Given the description of an element on the screen output the (x, y) to click on. 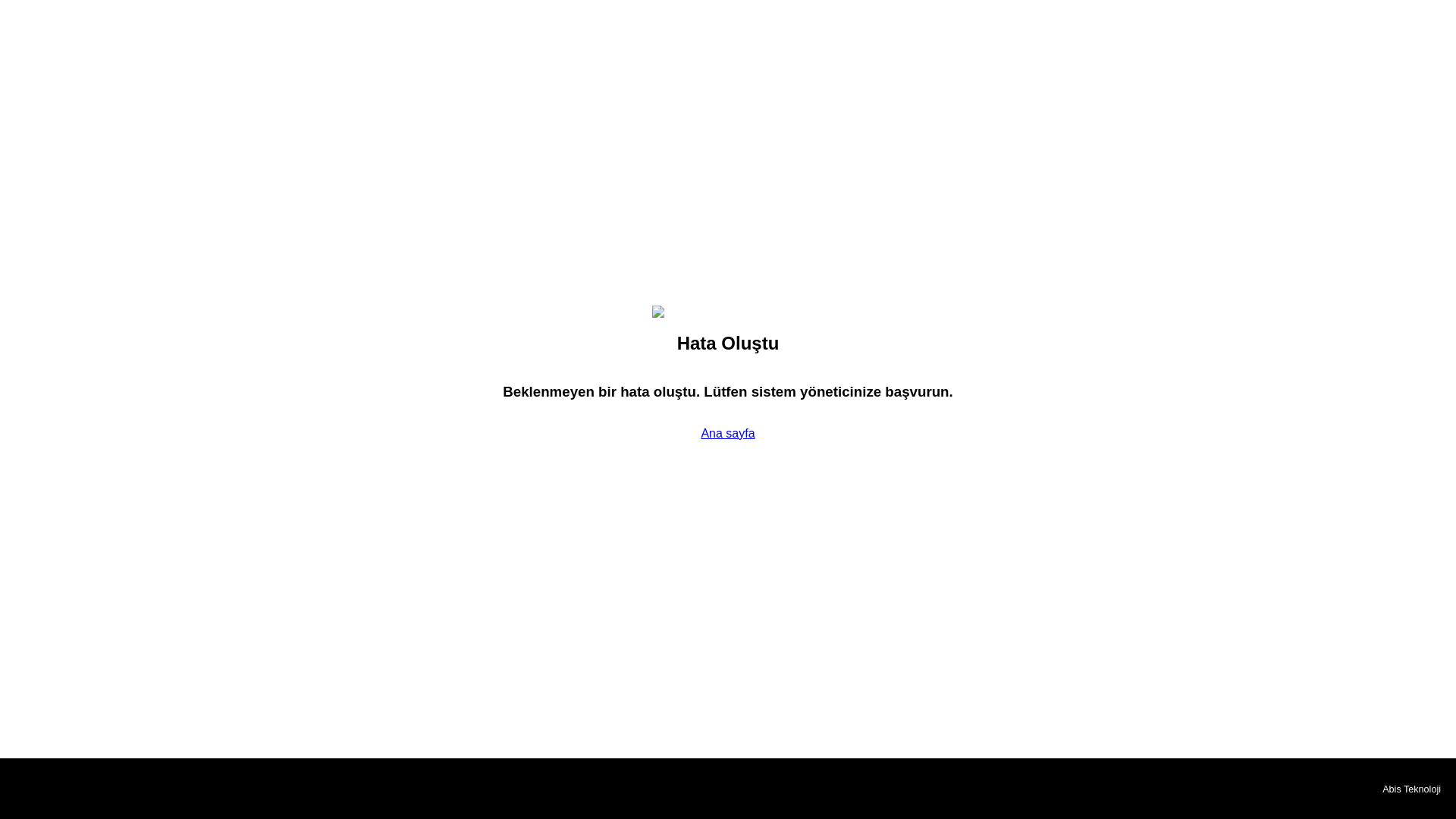
Abis Teknoloji (1411, 788)
Ana sayfa (727, 432)
